Given the description of an element on the screen output the (x, y) to click on. 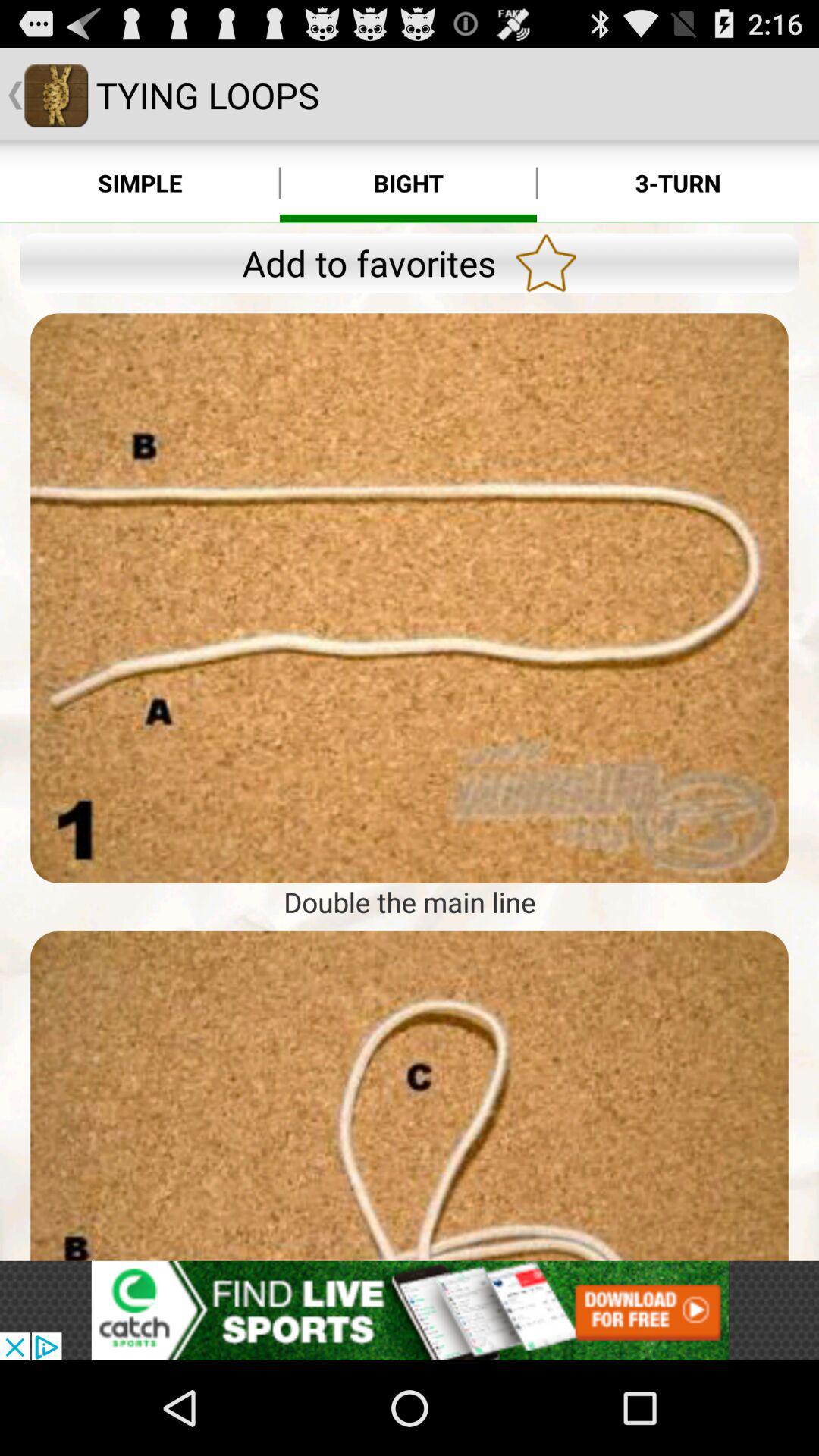
advertisement at bottom (409, 1310)
